Given the description of an element on the screen output the (x, y) to click on. 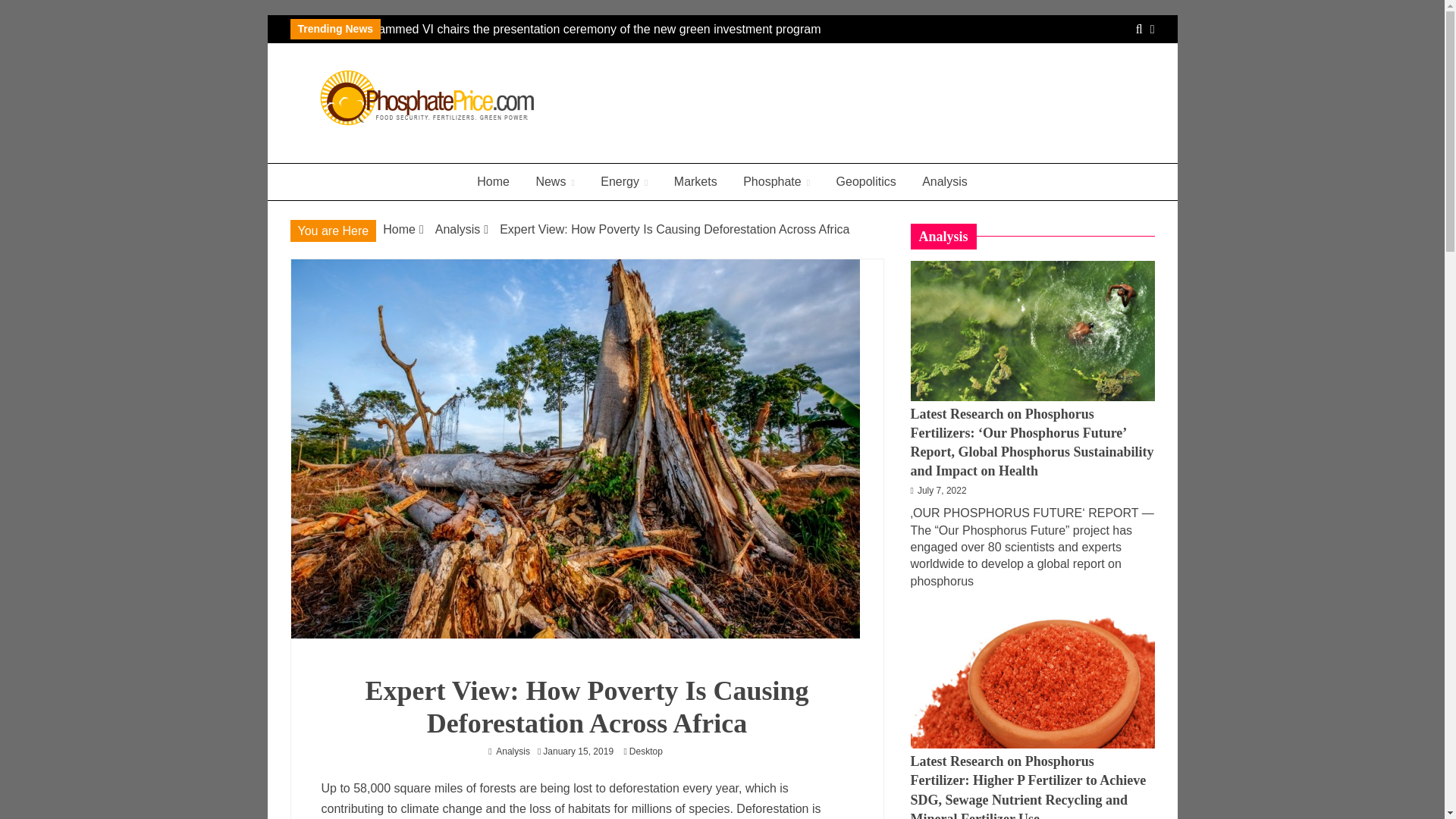
Energy (624, 181)
Phosphate (776, 181)
Home (493, 181)
News (554, 181)
Markets (695, 181)
Phosphate Price (406, 156)
